Given the description of an element on the screen output the (x, y) to click on. 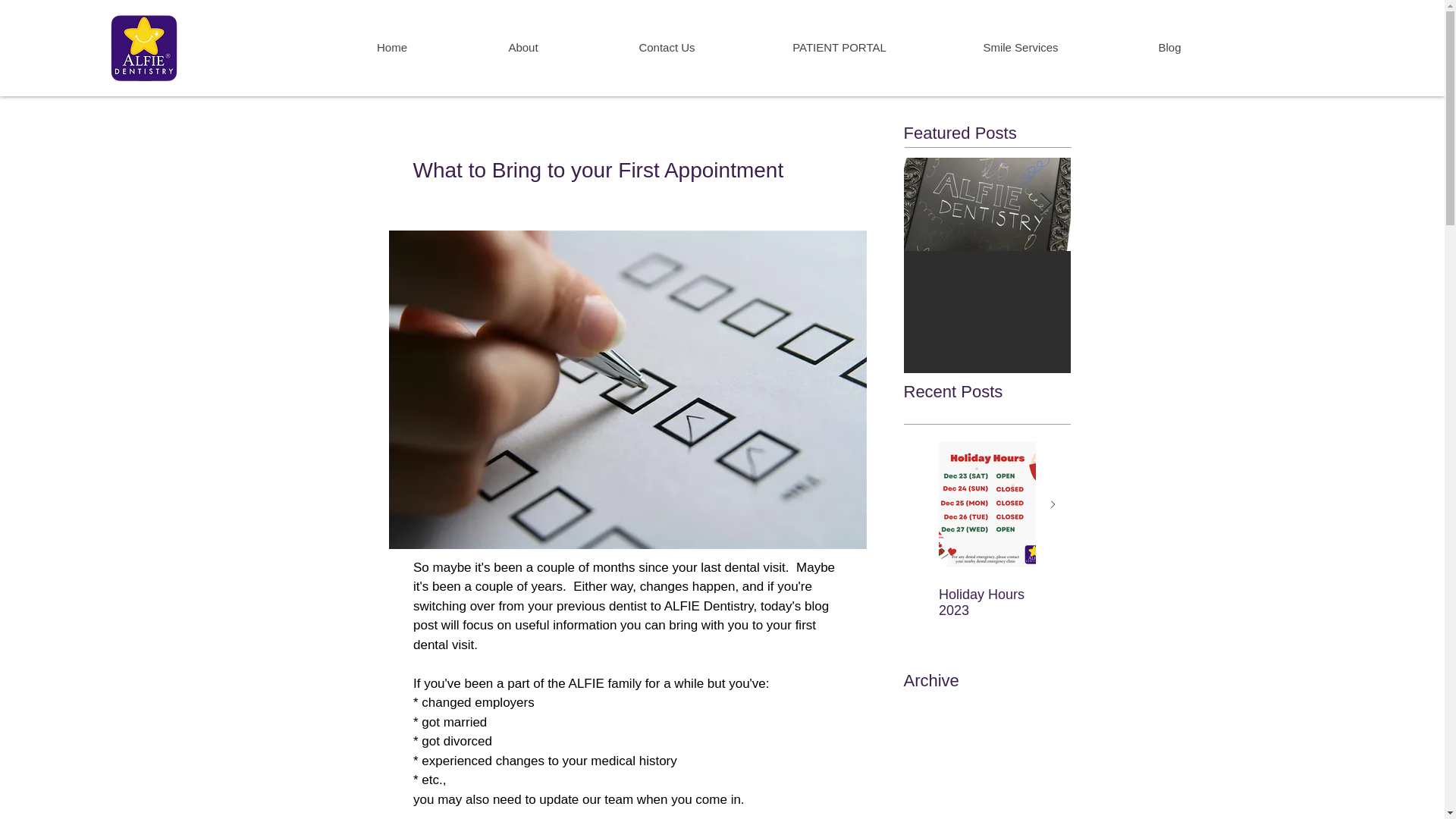
Welcome Back! (987, 280)
Holiday Hours 2023 (987, 603)
About (523, 47)
TeleDentistry Services (1153, 280)
Contact Us (666, 47)
Smile Services (1019, 47)
Blog (1168, 47)
PATIENT PORTAL (838, 47)
Happy Holidays from ALFIE Smiling Team (1083, 610)
Home (391, 47)
